Given the description of an element on the screen output the (x, y) to click on. 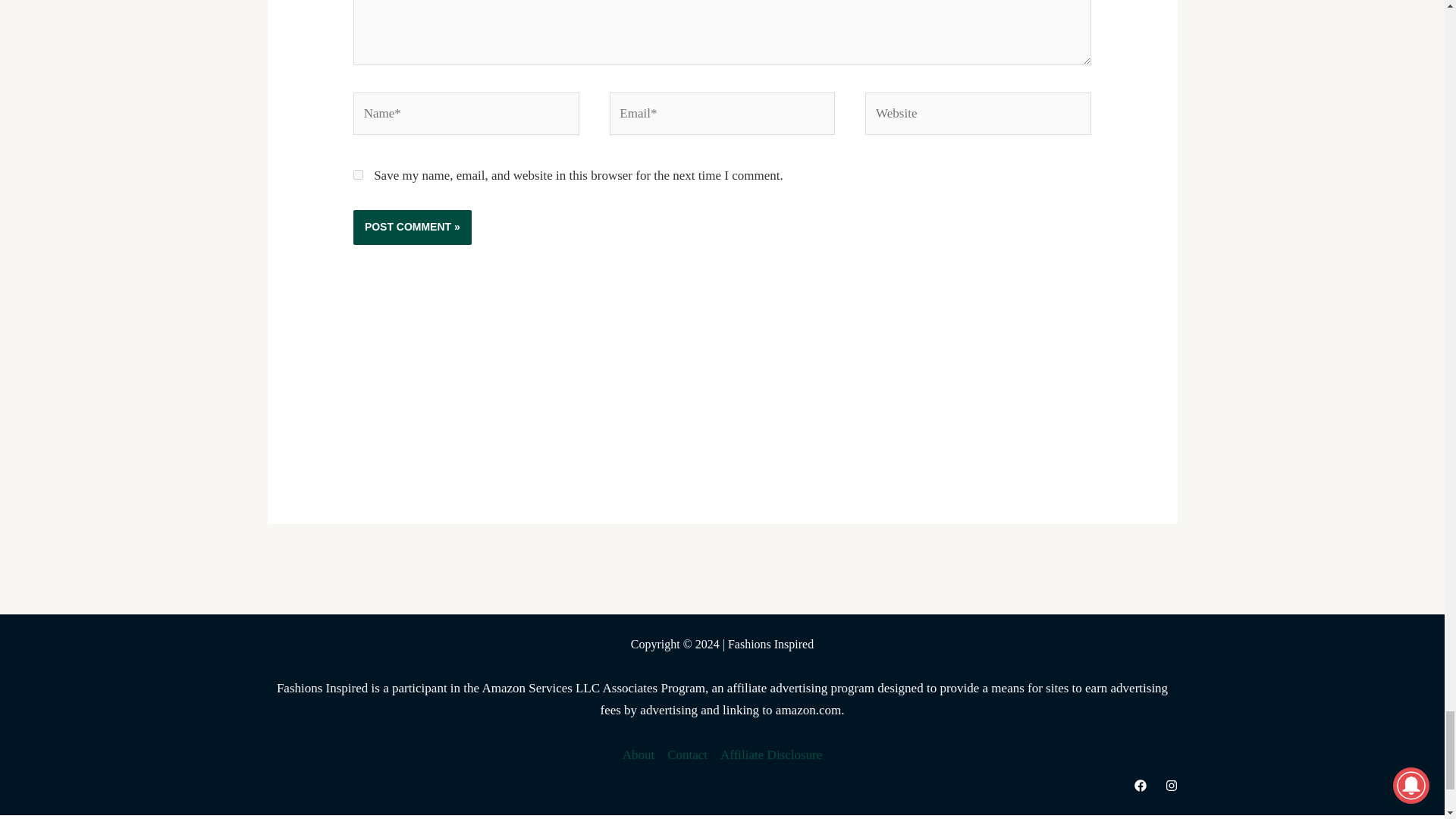
Contact (687, 754)
yes (357, 174)
Affiliate Disclosure (768, 754)
About (642, 754)
